Given the description of an element on the screen output the (x, y) to click on. 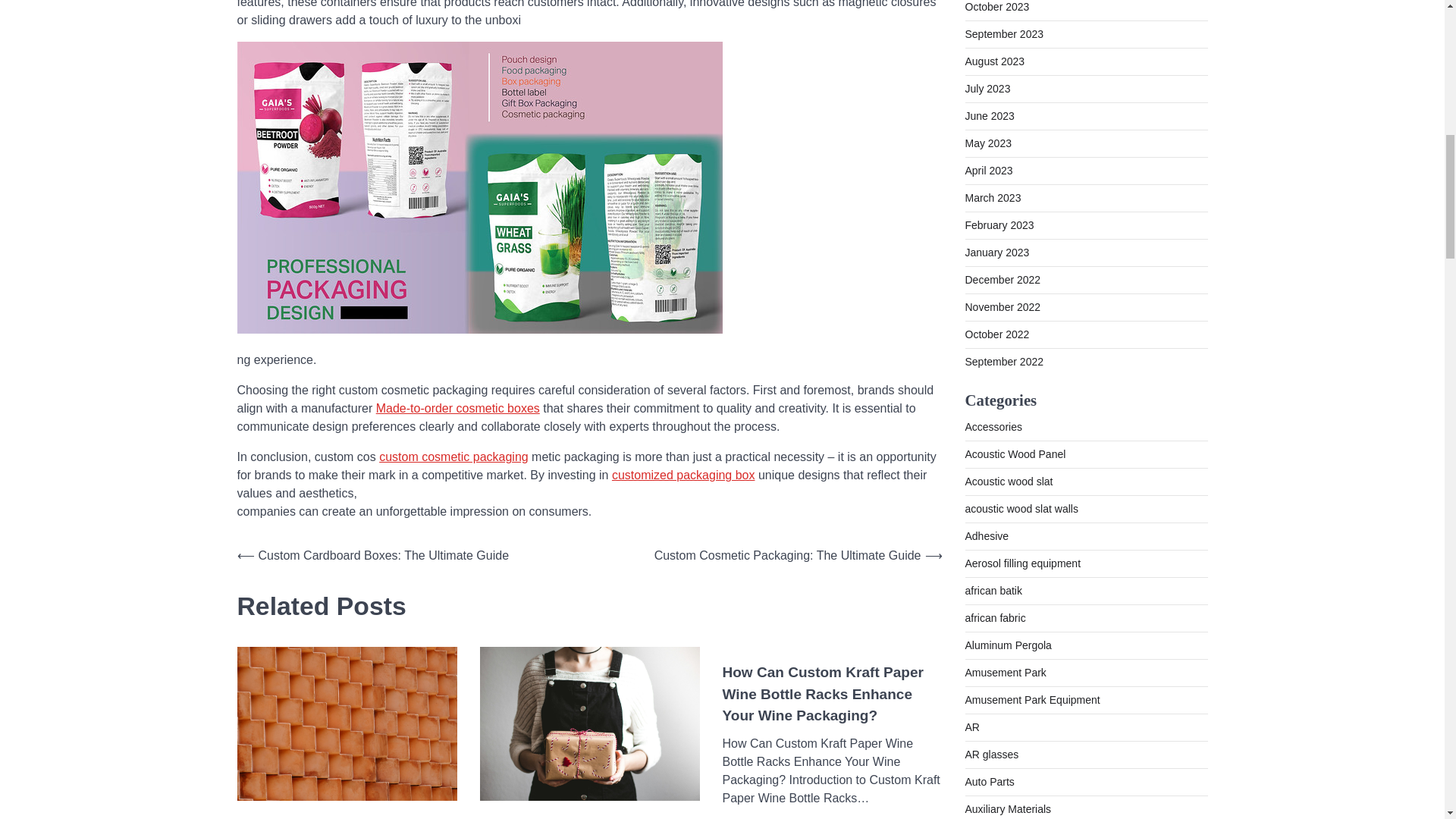
August 2023 (994, 61)
Made-to-order cosmetic boxes (457, 408)
July 2023 (986, 88)
June 2023 (988, 115)
customized packaging box (683, 474)
October 2023 (996, 6)
September 2023 (1003, 33)
custom cosmetic packaging (453, 456)
